Given the description of an element on the screen output the (x, y) to click on. 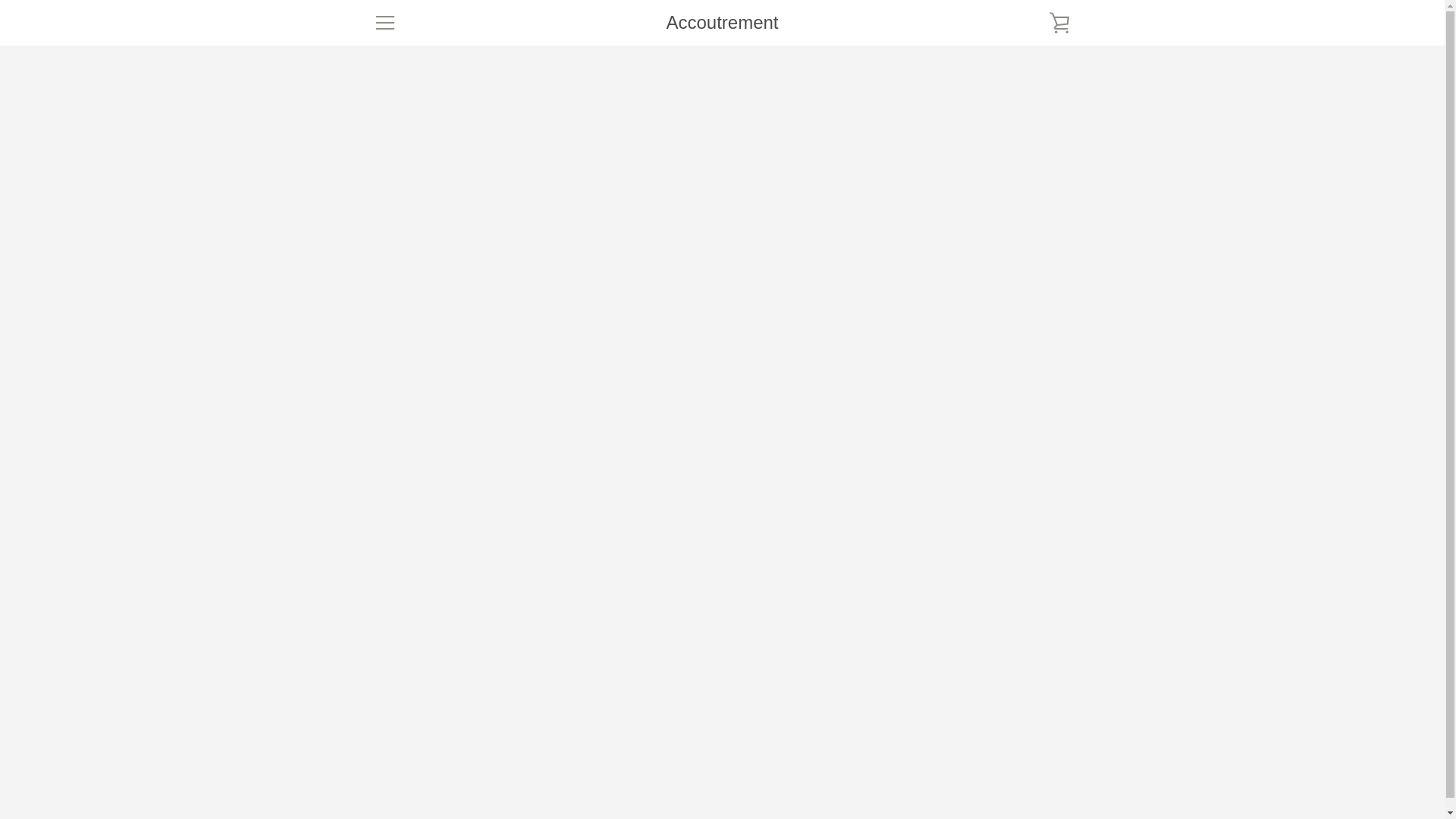
MENU (384, 22)
